Given the description of an element on the screen output the (x, y) to click on. 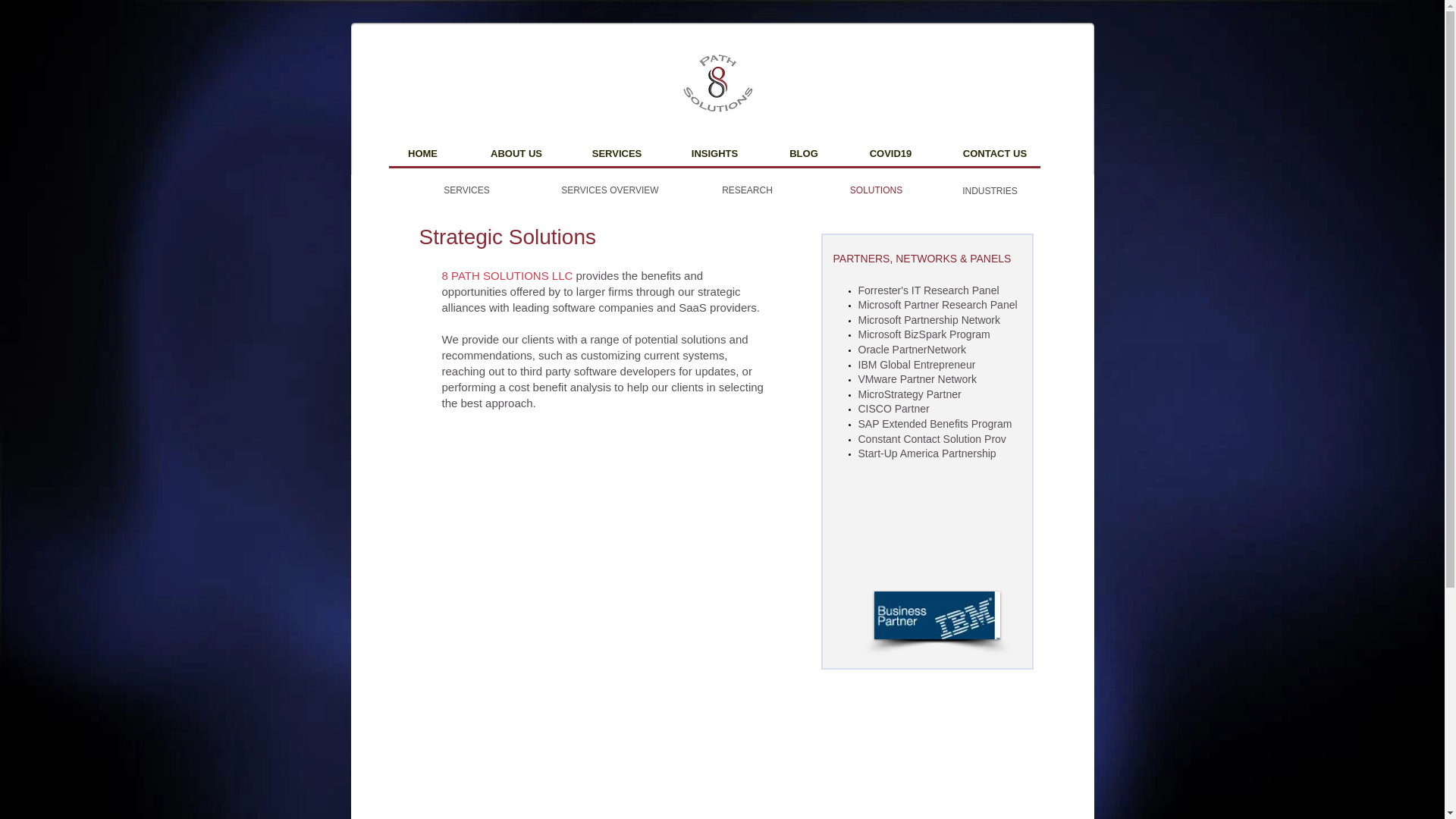
HOME (422, 153)
ABOUT US (515, 153)
SERVICES OVERVIEW (609, 189)
BLOG (804, 153)
COVID19 (890, 153)
CONTACT US (994, 153)
SOLUTIONS (875, 189)
INDUSTRIES (989, 190)
INSIGHTS (714, 153)
SERVICES (466, 189)
SERVICES (617, 153)
RESEARCH (746, 189)
